Given the description of an element on the screen output the (x, y) to click on. 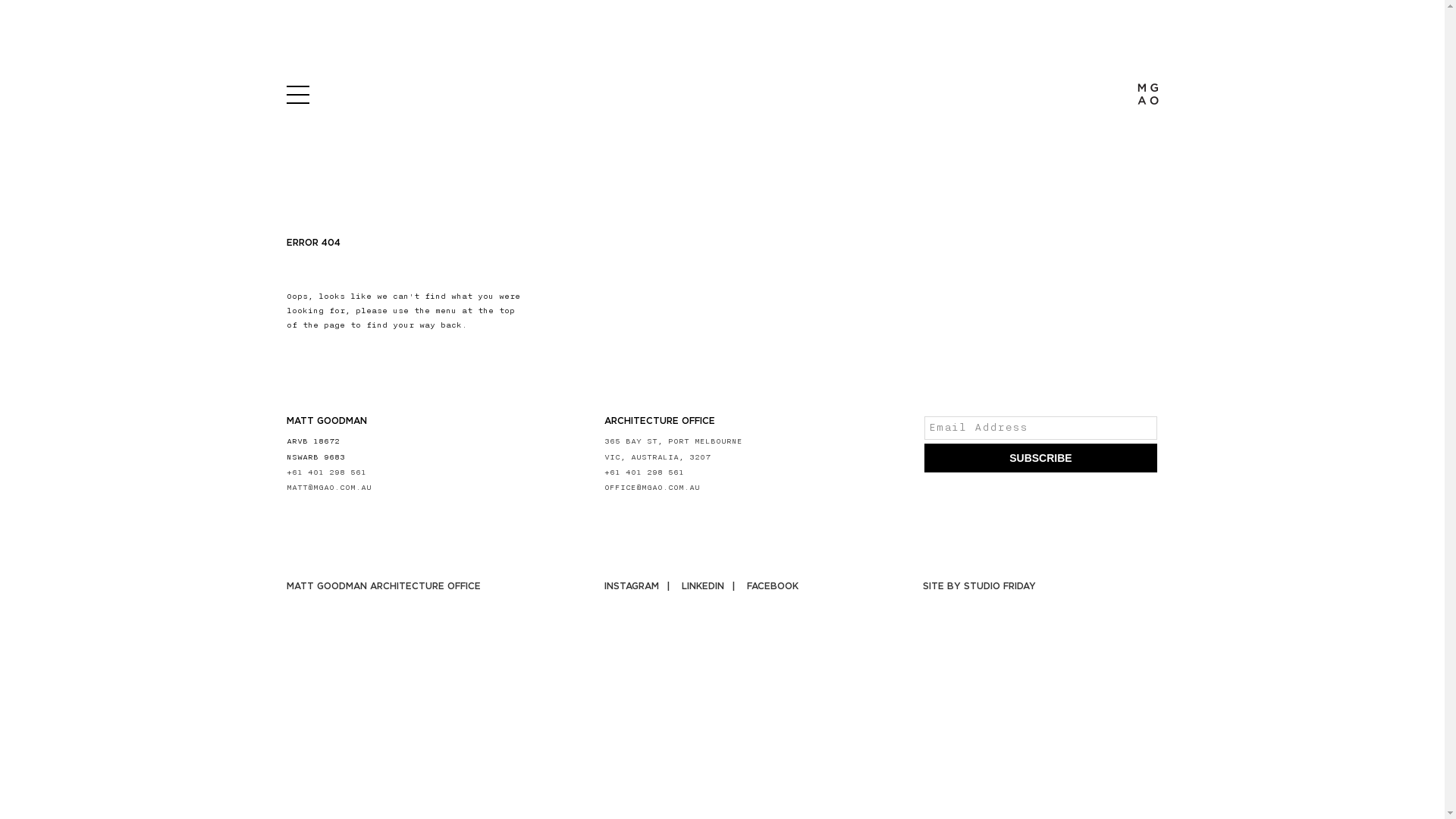
SUBSCRIBE Element type: text (1040, 457)
SITE BY STUDIO FRIDAY Element type: text (978, 585)
+61 401 298 561 Element type: text (644, 471)
OFFICE@MGAO.COM.AU Element type: text (651, 487)
LINKEDIN Element type: text (711, 586)
MATT@MGAO.COM.AU Element type: text (328, 487)
Matt Goodman Architecture Office Element type: hover (1147, 93)
+61 401 298 561 Element type: text (326, 471)
365 BAY ST, PORT MELBOURNE
VIC, AUSTRALIA, 3207 Element type: text (673, 448)
INSTAGRAM Element type: text (640, 586)
FACEBOOK Element type: text (772, 586)
